Given the description of an element on the screen output the (x, y) to click on. 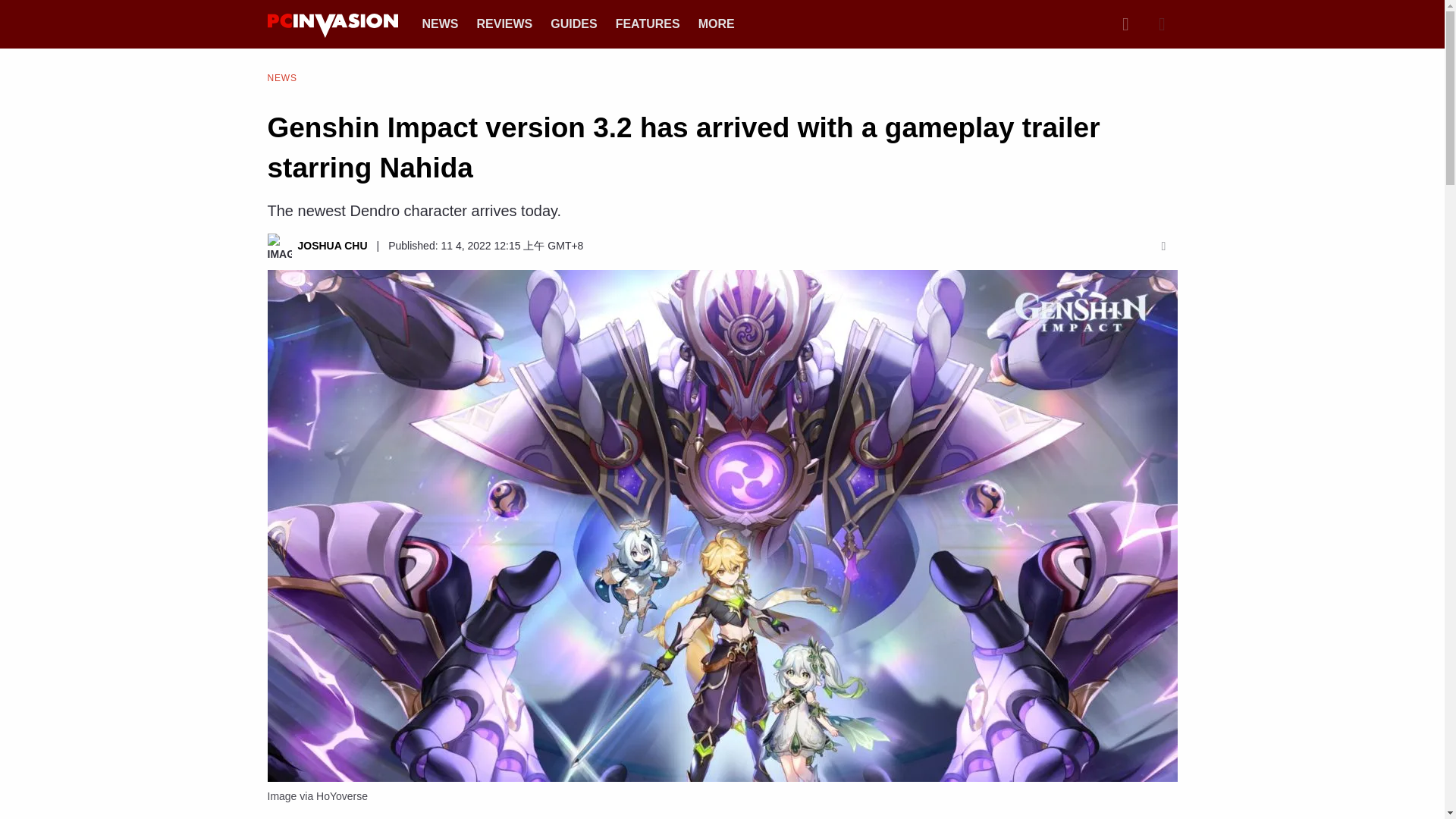
NEWS (281, 77)
REVIEWS (504, 23)
NEWS (440, 23)
FEATURES (647, 23)
Search (1124, 24)
Dark Mode (1161, 24)
GUIDES (573, 23)
